Given the description of an element on the screen output the (x, y) to click on. 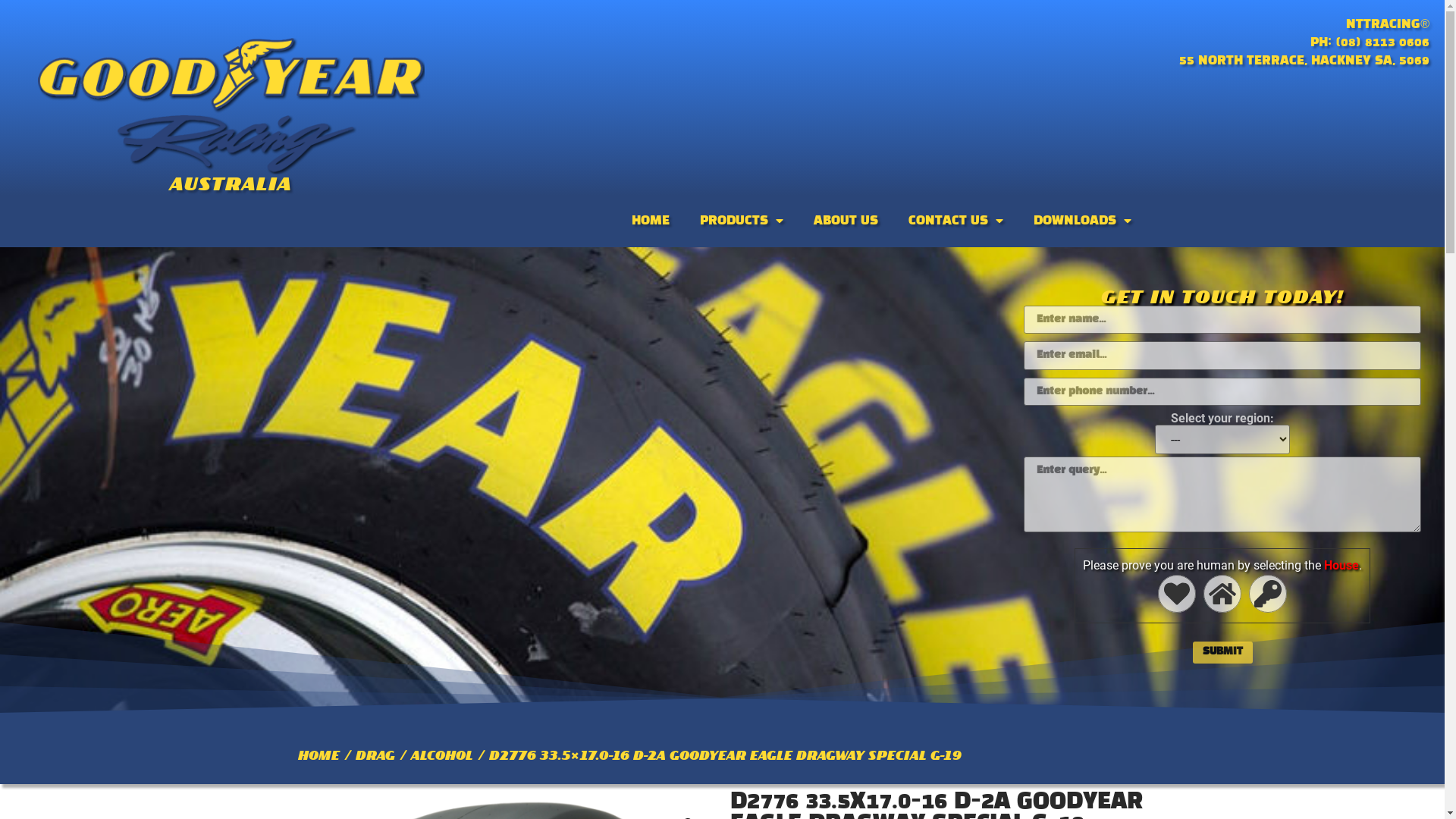
DOWNLOADS Element type: text (1082, 220)
PRODUCTS Element type: text (741, 220)
HOME Element type: text (317, 755)
Submit Element type: text (1222, 652)
DRAG Element type: text (374, 755)
HOME Element type: text (650, 220)
ALCOHOL Element type: text (442, 755)
CONTACT US Element type: text (955, 220)
(08) 8113 0606 Element type: text (1382, 42)
ABOUT US Element type: text (845, 220)
